Given the description of an element on the screen output the (x, y) to click on. 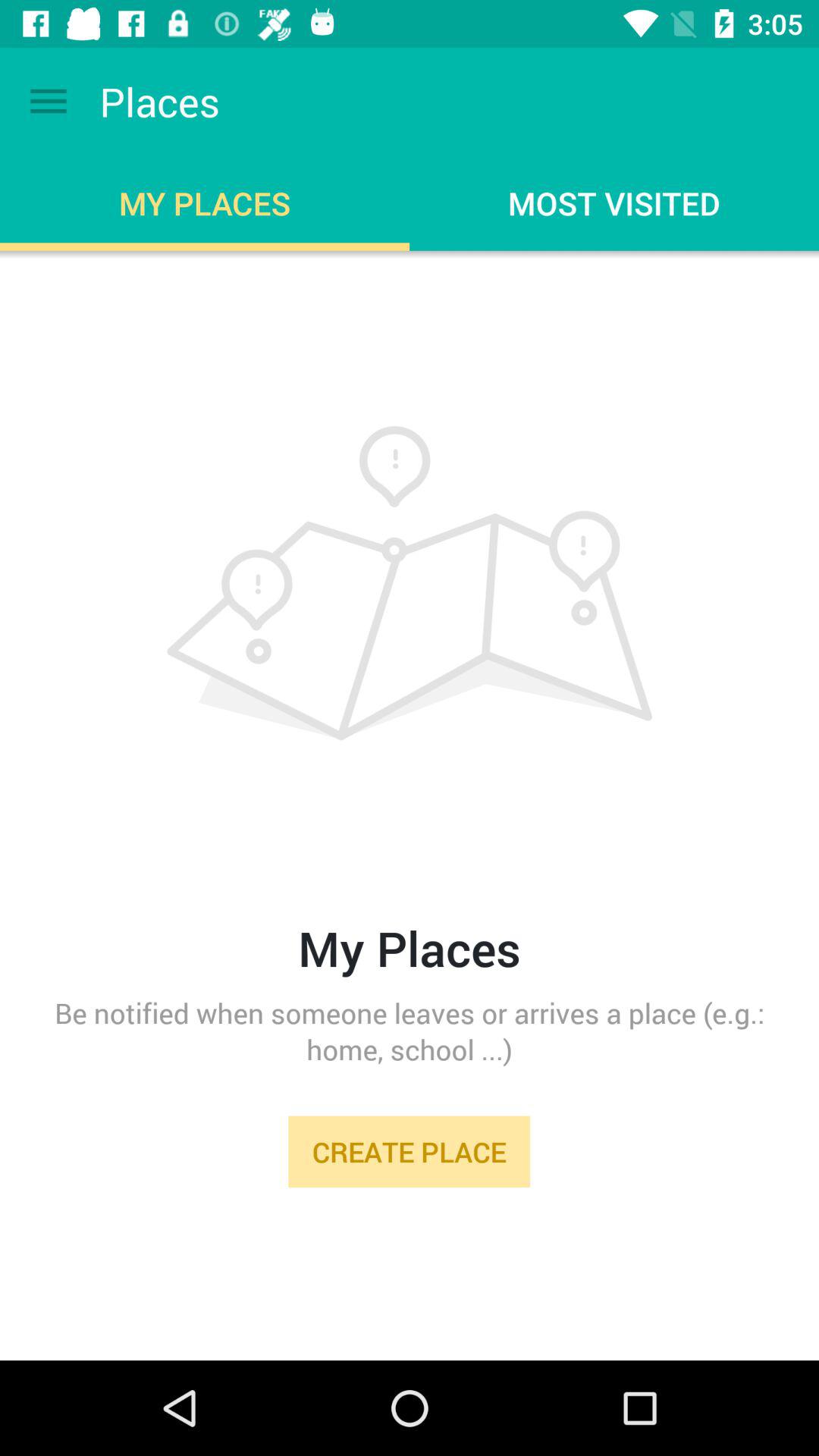
click the item below the places icon (409, 757)
